Given the description of an element on the screen output the (x, y) to click on. 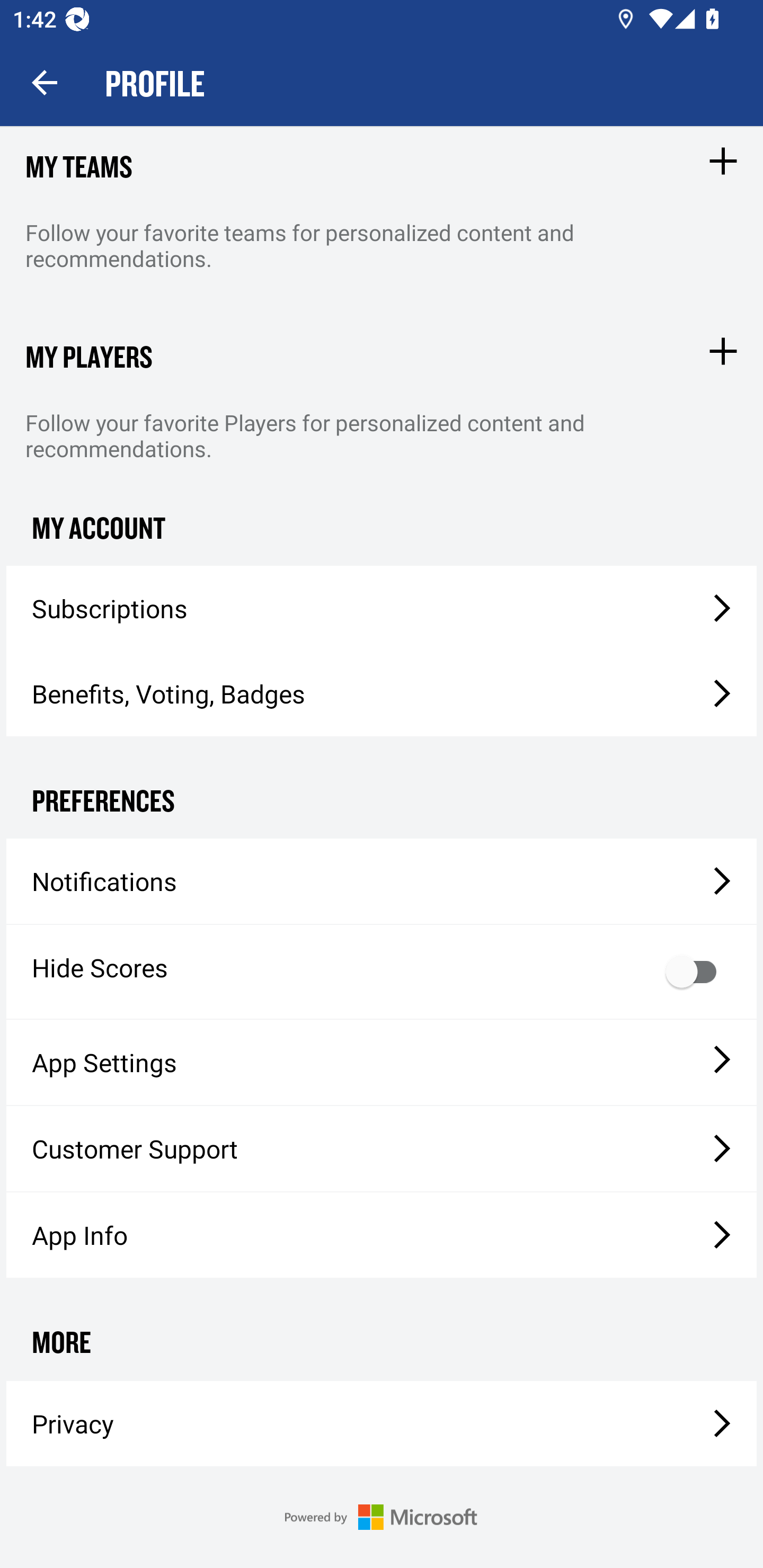
Subscriptions (381, 608)
Benefits, Voting, Badges (381, 693)
Notifications (381, 880)
Hide Scores (381, 972)
App Settings (381, 1062)
Customer Support (381, 1148)
App Info (381, 1234)
Privacy (381, 1423)
